Given the description of an element on the screen output the (x, y) to click on. 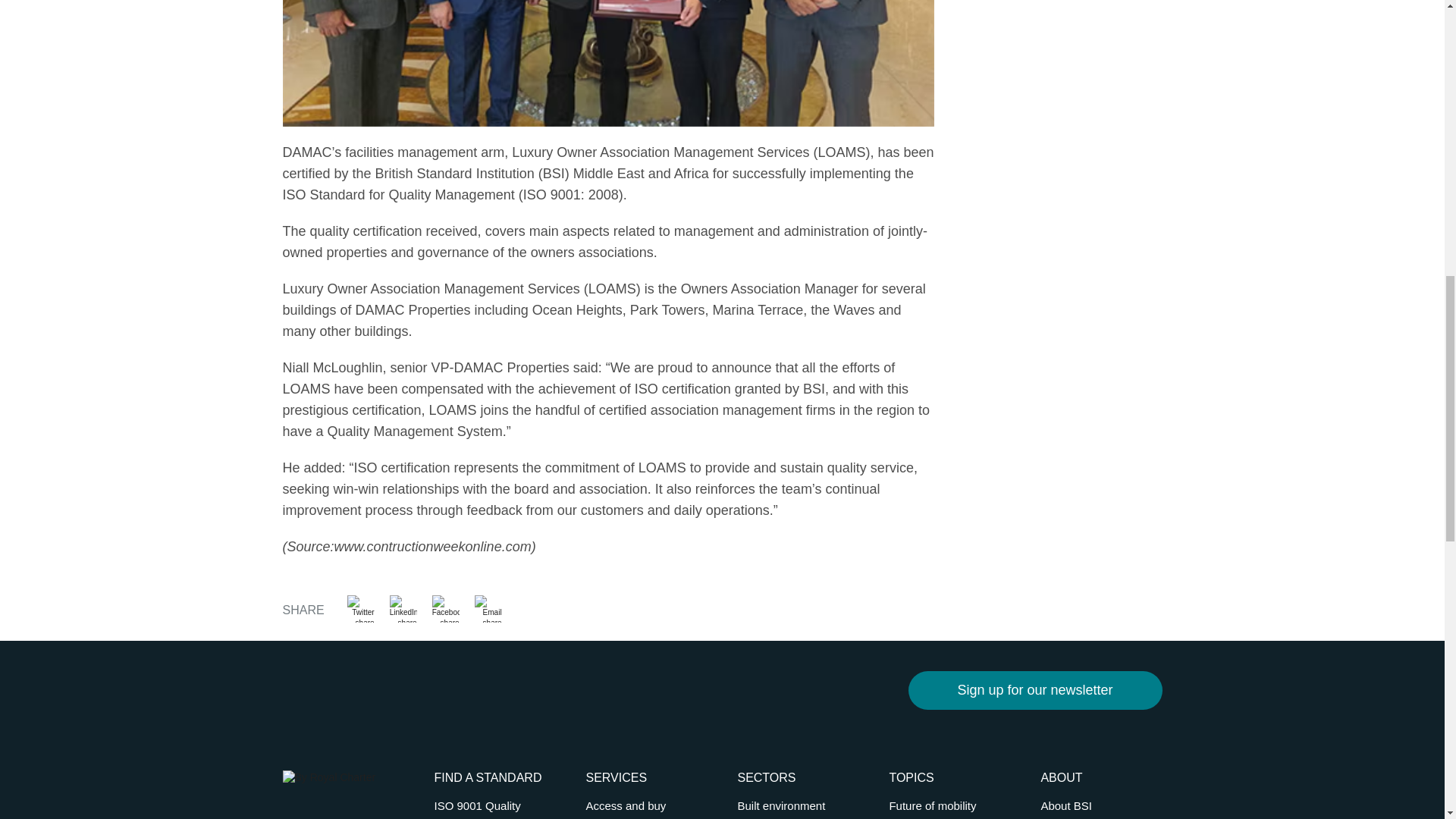
Sign up for our newsletter (1034, 690)
